Given the description of an element on the screen output the (x, y) to click on. 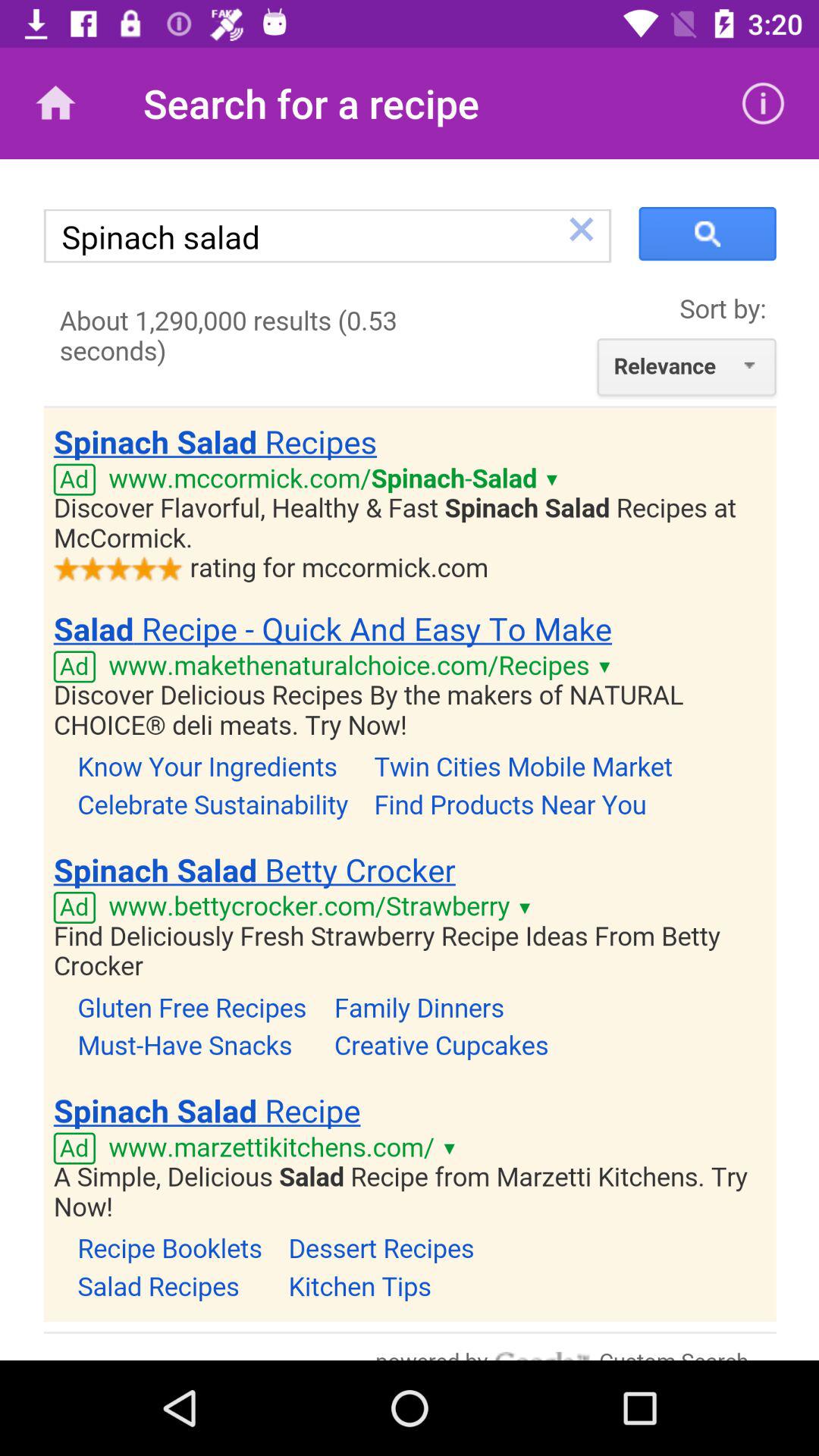
body (409, 759)
